Given the description of an element on the screen output the (x, y) to click on. 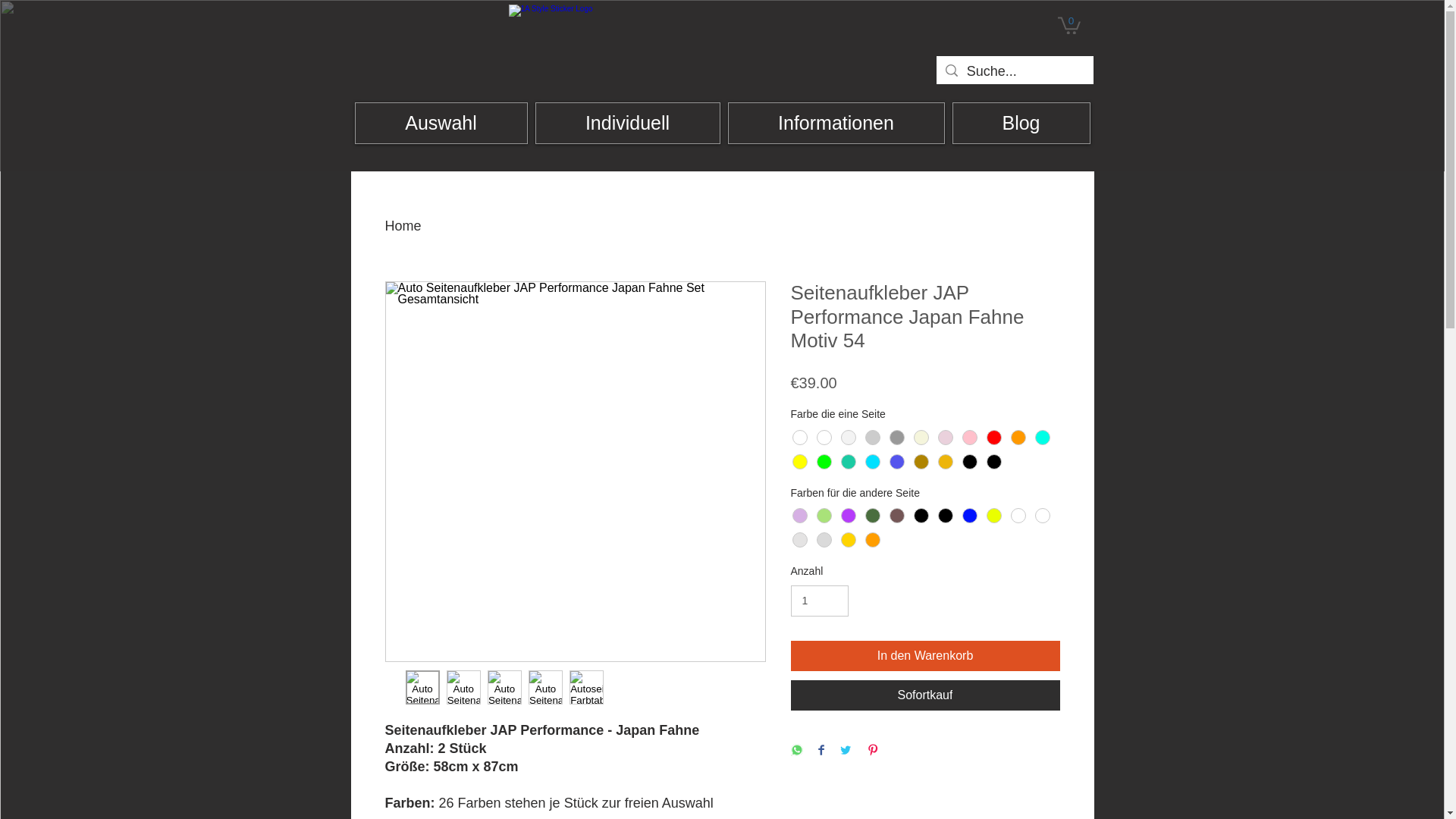
Home Element type: text (403, 225)
0 Element type: text (1068, 24)
Auswahl Element type: text (440, 123)
Blog Element type: text (1021, 123)
In den Warenkorb Element type: text (924, 655)
Informationen Element type: text (836, 123)
Individuell Element type: text (627, 123)
Sofortkauf Element type: text (924, 695)
